Given the description of an element on the screen output the (x, y) to click on. 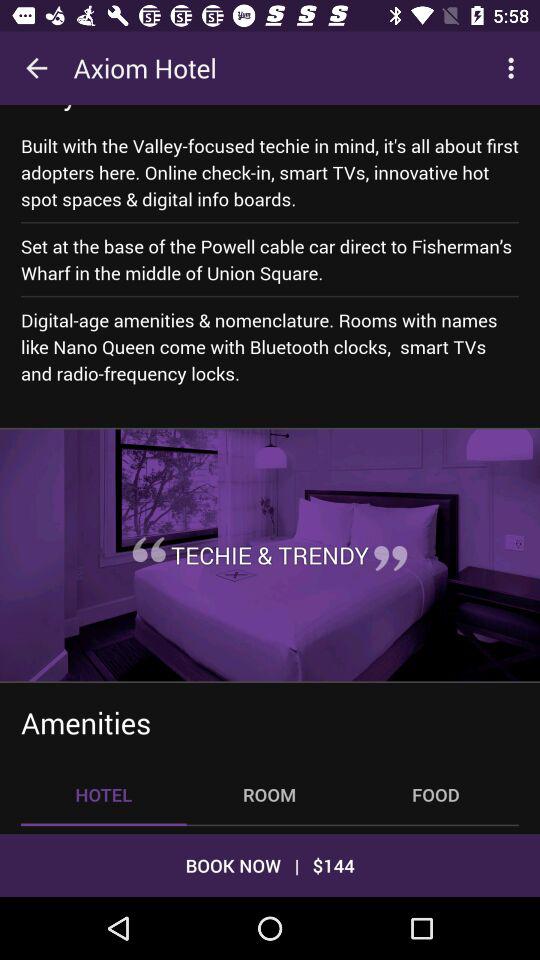
press set at the icon (270, 259)
